Given the description of an element on the screen output the (x, y) to click on. 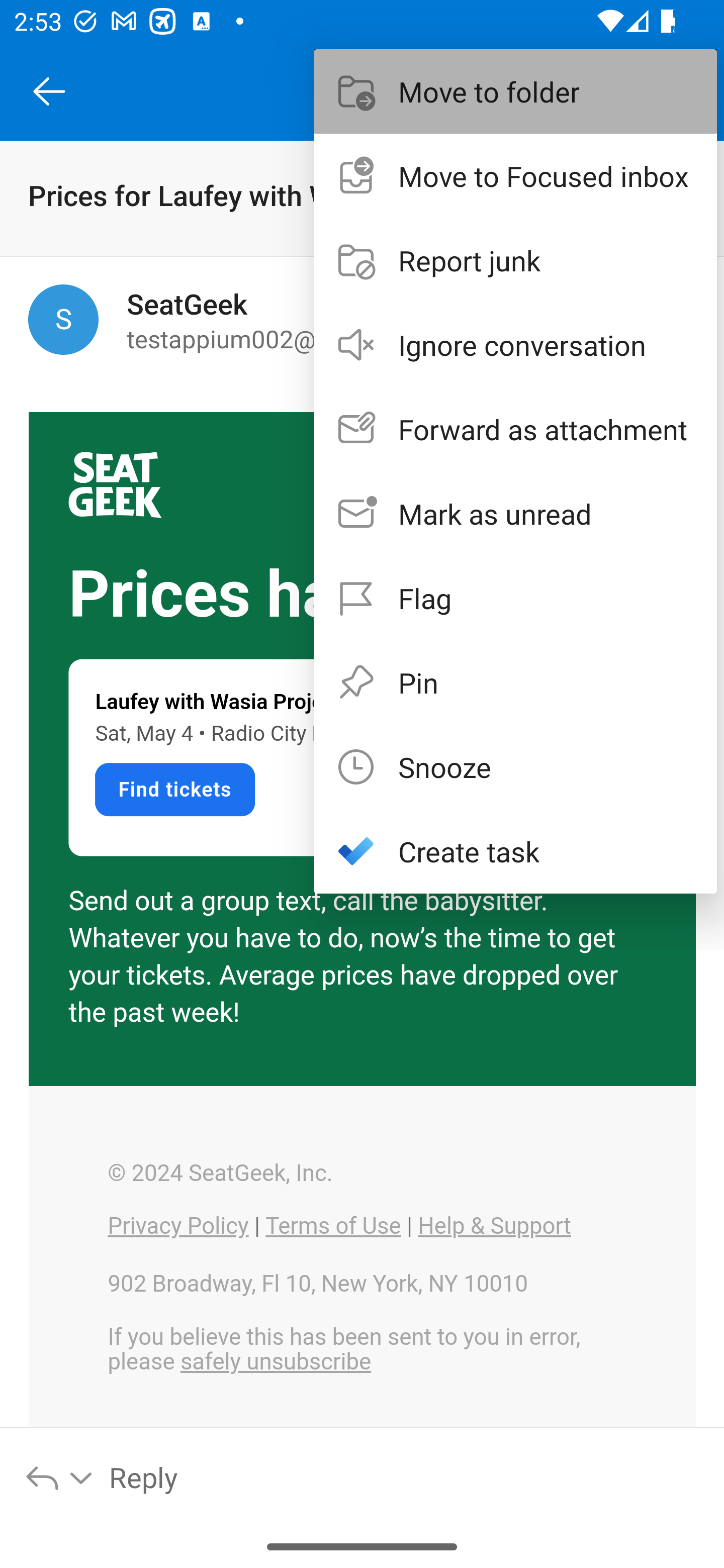
Move to folder (514, 90)
Move to Focused inbox (514, 175)
Report junk (514, 259)
Ignore conversation (514, 344)
Forward as attachment (514, 429)
Mark as unread (514, 513)
Flag (514, 597)
Pin (514, 681)
Snooze (514, 766)
Create task (514, 851)
